Given the description of an element on the screen output the (x, y) to click on. 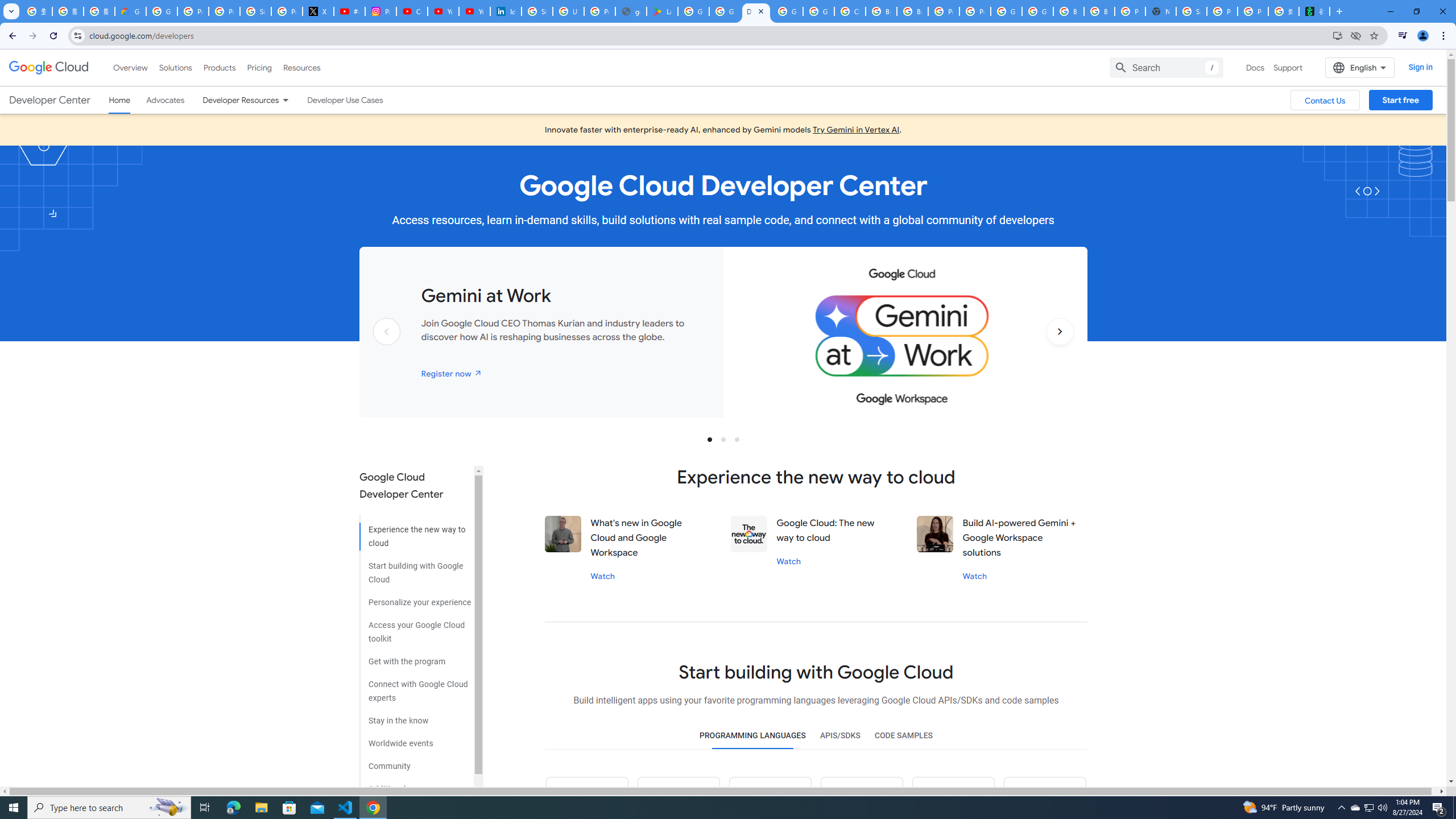
Browse Chrome as a guest - Computer - Google Chrome Help (1068, 11)
Contact Us (1324, 100)
Google Cloud Privacy Notice (130, 11)
Slide 3 (736, 438)
Google Workspace - Specific Terms (724, 11)
Start building with Google Cloud (415, 568)
Slide 2 (722, 438)
Browse Chrome as a guest - Computer - Google Chrome Help (881, 11)
Resources (301, 67)
Developer Center (49, 100)
Start free (1400, 100)
Personalize your experience (415, 598)
